Given the description of an element on the screen output the (x, y) to click on. 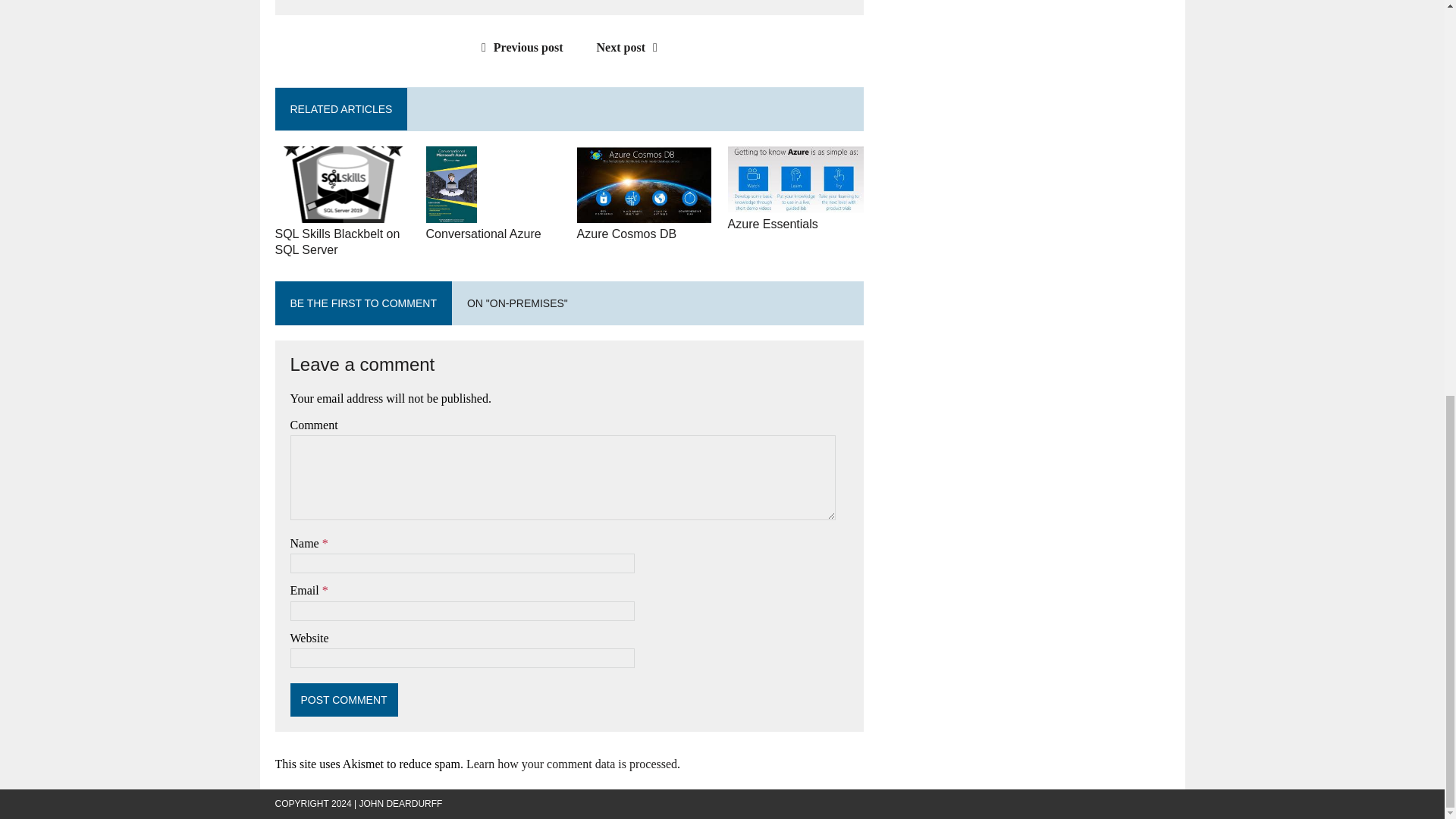
SQL Skills Blackbelt on SQL Server (336, 241)
Post Comment (343, 699)
Azure Cosmos DB (643, 212)
Azure Cosmos DB (626, 233)
Azure Essentials (773, 223)
Azure Cosmos DB (626, 233)
Learn how your comment data is processed (571, 763)
Azure Essentials (773, 223)
Conversational Azure (483, 233)
Previous post (518, 47)
SQL Skills Blackbelt on SQL Server (336, 241)
Conversational Azure (483, 233)
Post Comment (343, 699)
Azure Essentials (796, 203)
Next post (630, 47)
